Given the description of an element on the screen output the (x, y) to click on. 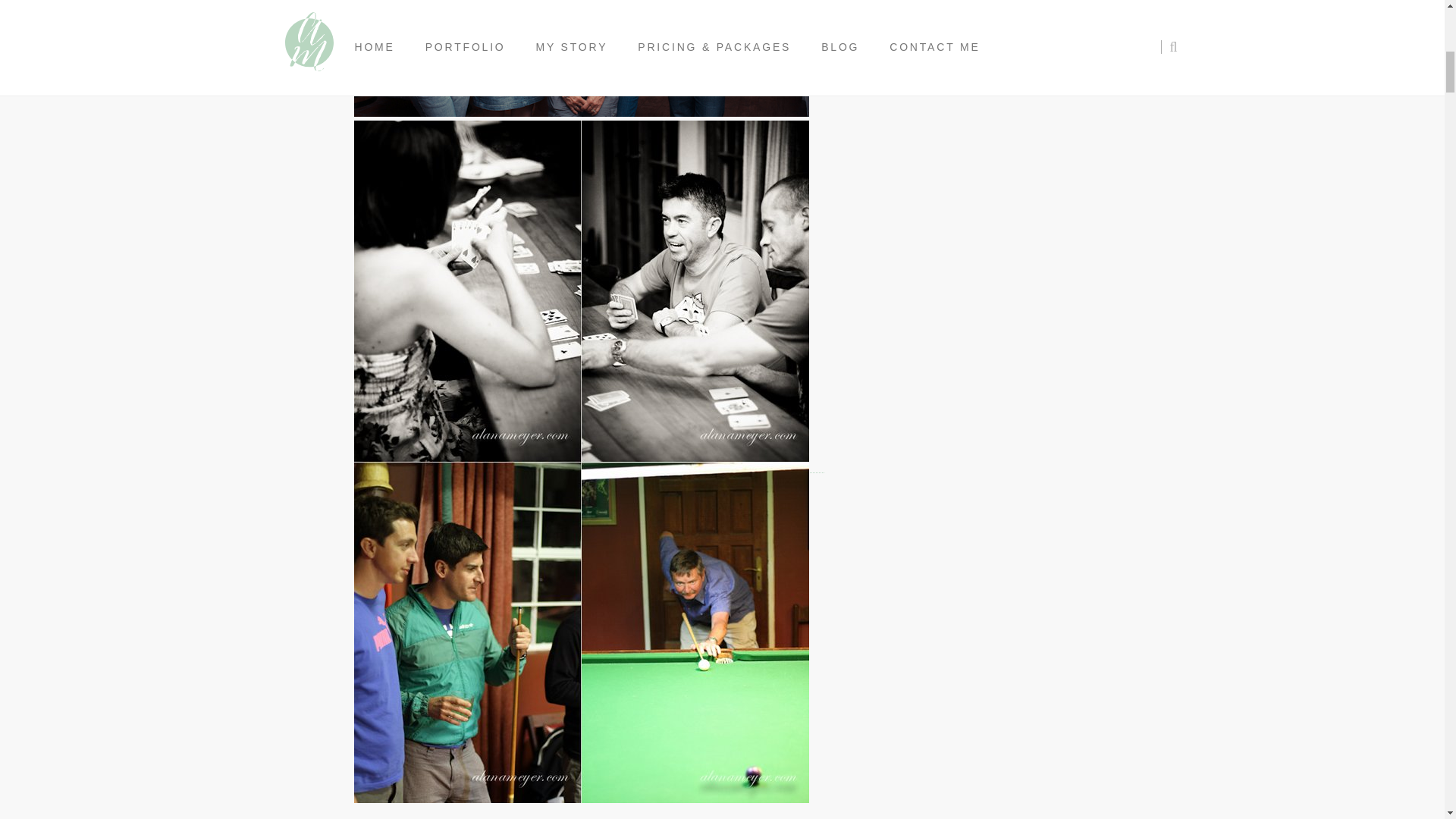
Daleblog-1 (581, 58)
